Given the description of an element on the screen output the (x, y) to click on. 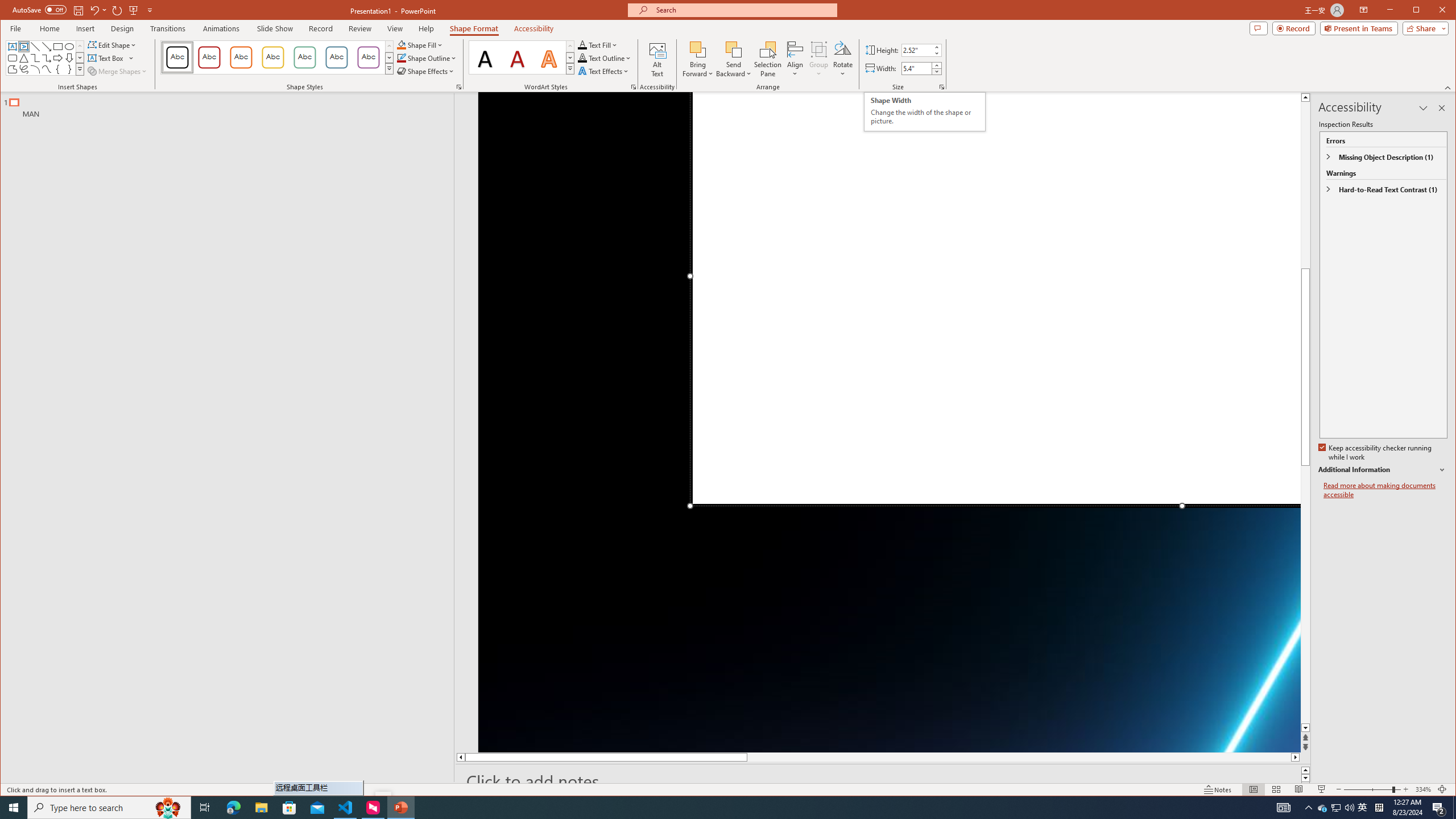
Colored Outline - Blue-Gray, Accent 5 (336, 57)
Text Effects (603, 70)
Fill: Black, Text color 1; Shadow (486, 57)
AutomationID: ShapeStylesGallery (277, 57)
